Given the description of an element on the screen output the (x, y) to click on. 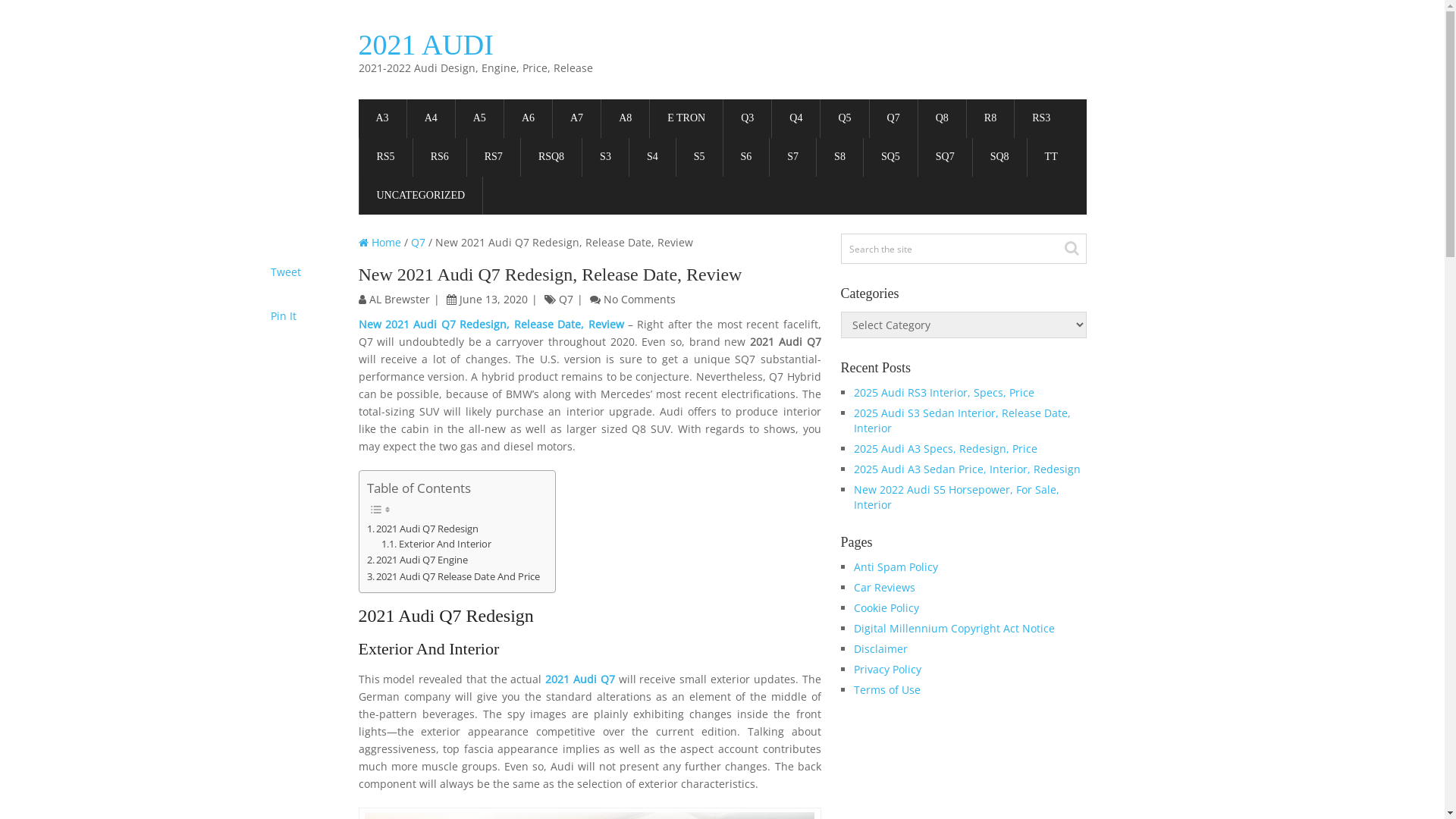
Q3 Element type: text (747, 118)
2025 Audi S3 Sedan Interior, Release Date, Interior Element type: text (961, 420)
Car Reviews Element type: text (884, 587)
2021 Audi Q7 Redesign Element type: text (423, 528)
Privacy Policy Element type: text (887, 669)
SQ8 Element type: text (999, 157)
Q7 Element type: text (565, 298)
A8 Element type: text (625, 118)
2021 Audi Q7 Engine Element type: text (417, 559)
Pin It Element type: text (282, 315)
Digital Millennium Copyright Act Notice Element type: text (953, 628)
Exterior And Interior Element type: text (436, 544)
Home Element type: text (378, 242)
2021 Audi Q7 Element type: text (580, 678)
AL Brewster Element type: text (398, 298)
SQ7 Element type: text (945, 157)
2021 AUDI Element type: text (424, 44)
S6 Element type: text (746, 157)
R8 Element type: text (989, 118)
RSQ8 Element type: text (550, 157)
A5 Element type: text (479, 118)
2021 Audi Q7 Release Date And Price Element type: text (453, 576)
Anti Spam Policy Element type: text (895, 566)
Cookie Policy Element type: text (886, 607)
Q7 Element type: text (893, 118)
RS7 Element type: text (493, 157)
S3 Element type: text (605, 157)
A6 Element type: text (528, 118)
Q4 Element type: text (795, 118)
RS5 Element type: text (385, 157)
RS6 Element type: text (439, 157)
S4 Element type: text (652, 157)
S7 Element type: text (792, 157)
Q8 Element type: text (942, 118)
New 2022 Audi S5 Horsepower, For Sale, Interior Element type: text (956, 496)
Disclaimer Element type: text (880, 648)
UNCATEGORIZED Element type: text (421, 195)
Tweet Element type: text (284, 271)
TT Element type: text (1051, 157)
S8 Element type: text (839, 157)
New 2021 Audi Q7 Redesign, Release Date, Review Element type: text (490, 323)
Q7 Element type: text (418, 242)
A3 Element type: text (381, 118)
2025 Audi A3 Sedan Price, Interior, Redesign Element type: text (966, 468)
A7 Element type: text (576, 118)
E TRON Element type: text (685, 118)
No Comments Element type: text (639, 298)
2025 Audi RS3 Interior, Specs, Price Element type: text (943, 392)
Q5 Element type: text (844, 118)
Terms of Use Element type: text (886, 689)
2025 Audi A3 Specs, Redesign, Price Element type: text (945, 448)
A4 Element type: text (431, 118)
SQ5 Element type: text (890, 157)
RS3 Element type: text (1040, 118)
S5 Element type: text (699, 157)
